Given the description of an element on the screen output the (x, y) to click on. 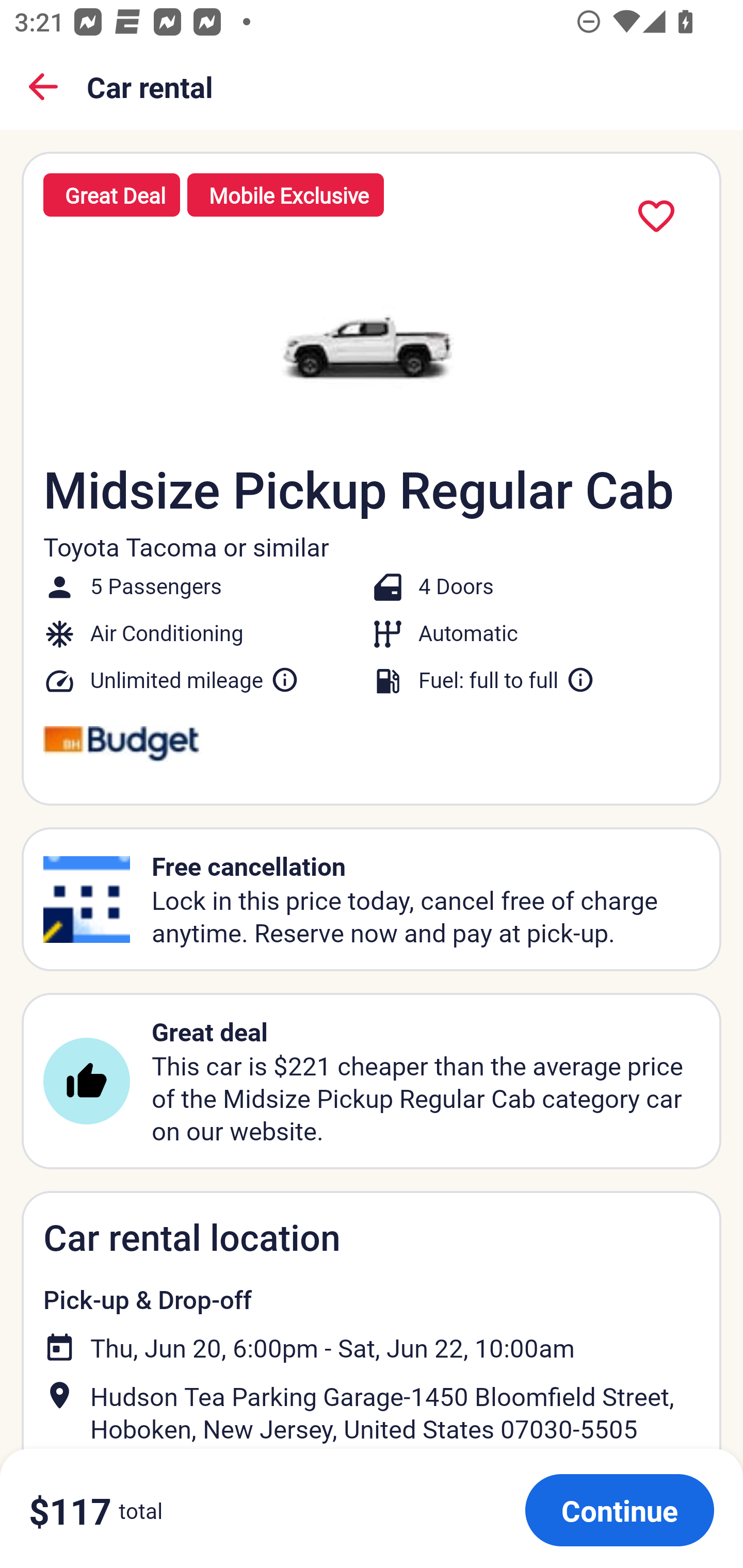
Go back to car rental search results (43, 86)
Unlimited mileage (194, 679)
Fuel: full to full (506, 679)
Continue (619, 1510)
